Given the description of an element on the screen output the (x, y) to click on. 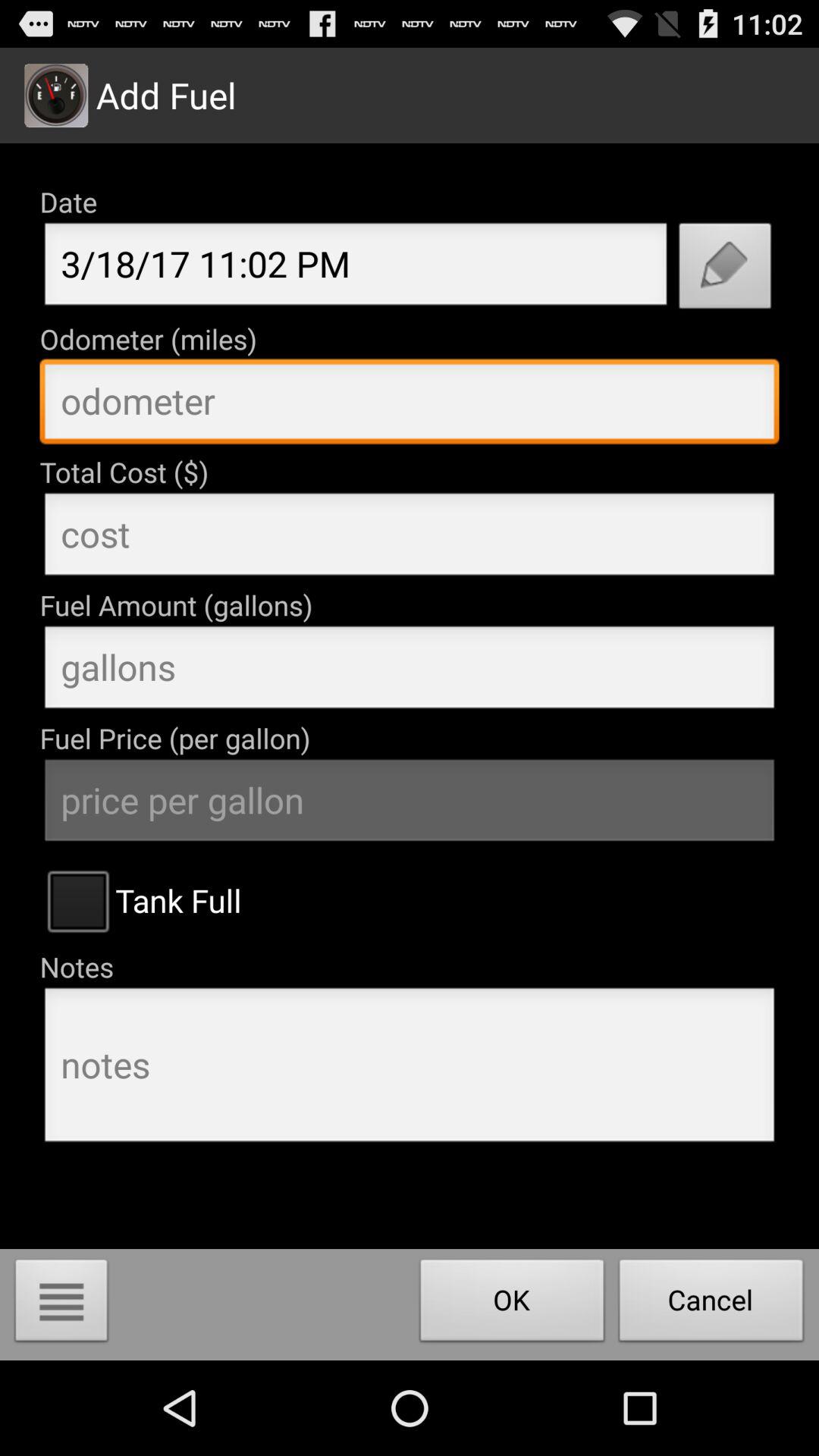
enter total cost in dollars (409, 538)
